Given the description of an element on the screen output the (x, y) to click on. 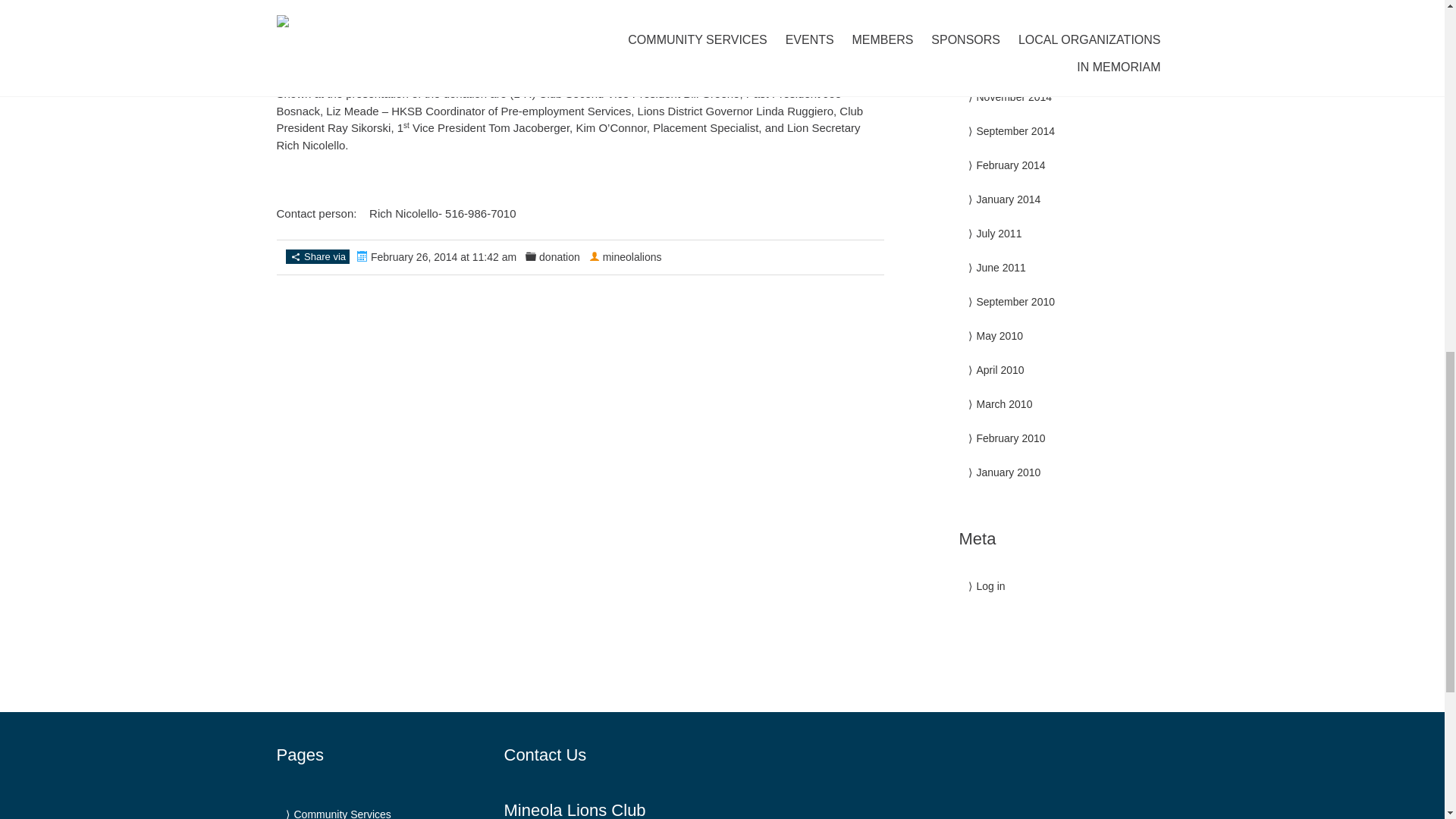
June 2011 (1001, 267)
January 2014 (1008, 199)
November 2014 (1014, 96)
May 2010 (999, 336)
July 2015 (999, 28)
September 2010 (1015, 301)
September 2014 (1015, 131)
mineolalions (632, 256)
July 2011 (999, 233)
February 2016 (1010, 0)
